Given the description of an element on the screen output the (x, y) to click on. 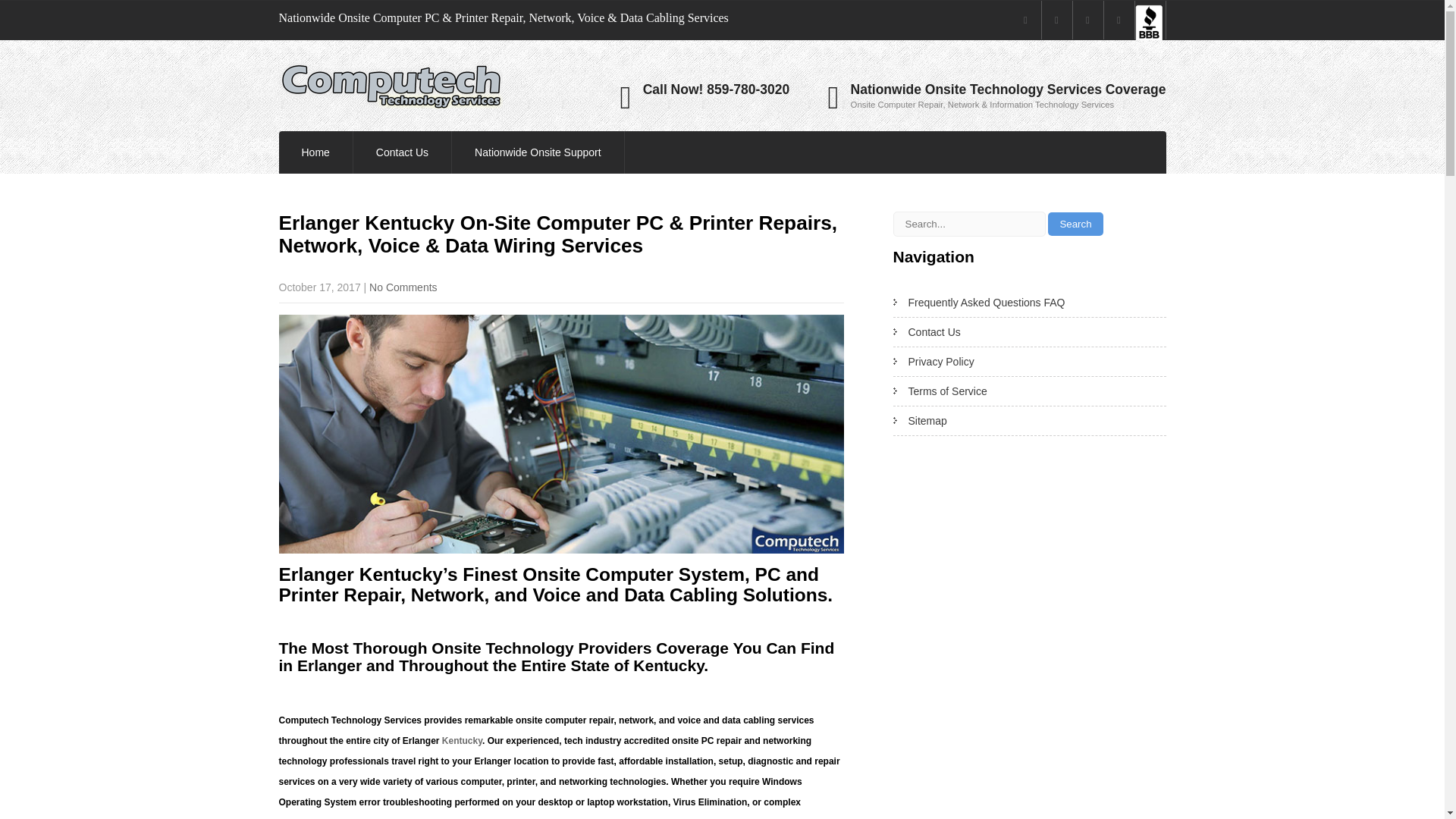
Nationwide Onsite Support (537, 152)
Contact Us (402, 152)
No Comments (402, 287)
Home (315, 152)
Search (1075, 223)
Search (1075, 223)
Kentucky (461, 740)
